Given the description of an element on the screen output the (x, y) to click on. 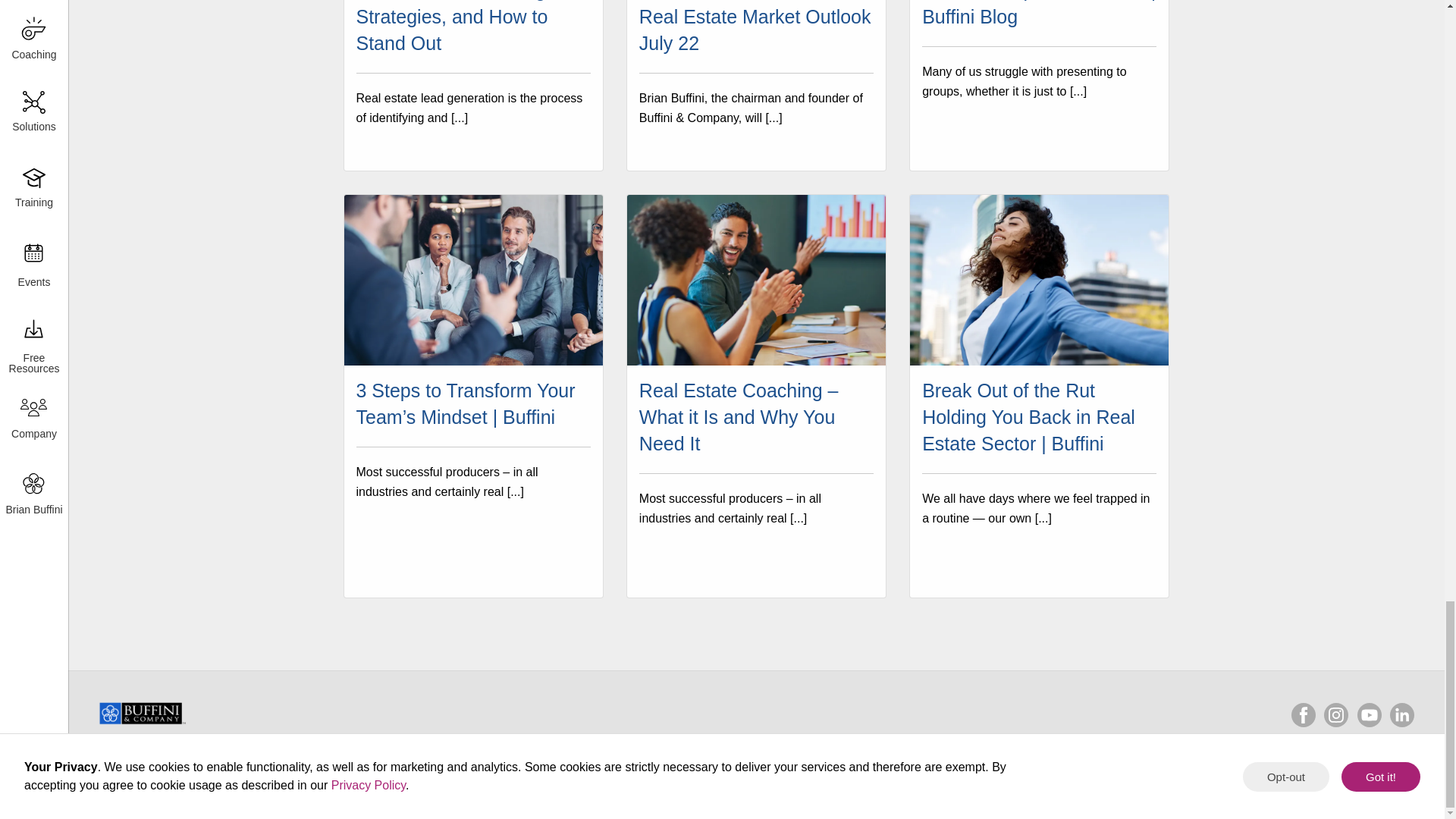
YouTube (1368, 714)
Facebook (1303, 714)
Instagram (1335, 714)
LinkedIn (1401, 714)
